Given the description of an element on the screen output the (x, y) to click on. 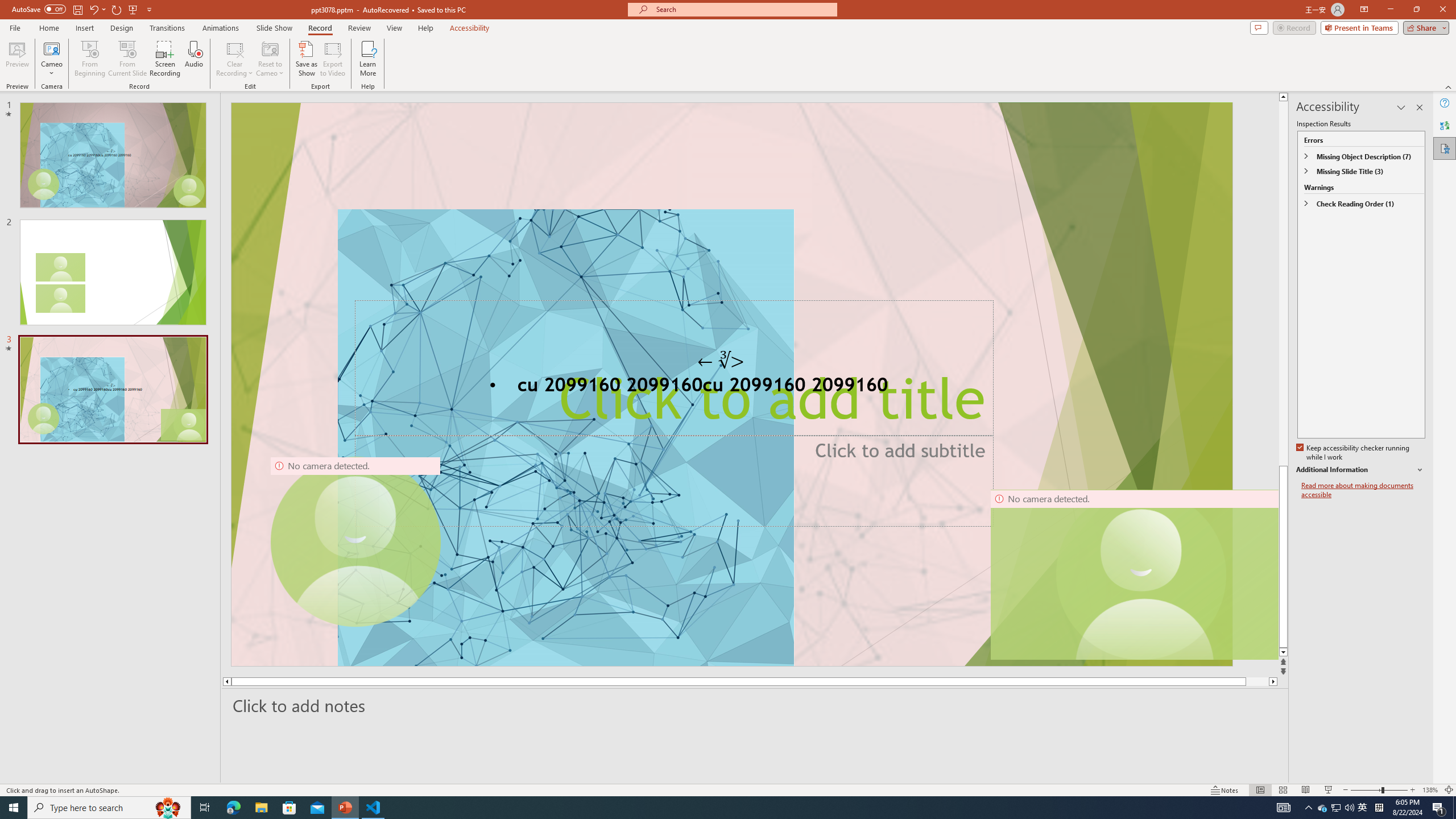
Line up (1283, 96)
Keep accessibility checker running while I work (1353, 452)
Cameo (51, 58)
Undo (96, 9)
Customize Quick Access Toolbar (149, 9)
Save (77, 9)
Help (1444, 102)
Zoom 138% (1430, 790)
Preview (17, 58)
Read more about making documents accessible (1363, 489)
Translator (1444, 125)
Class: MsoCommandBar (728, 789)
TextBox 7 (720, 360)
From Beginning... (89, 58)
More Options (51, 68)
